Given the description of an element on the screen output the (x, y) to click on. 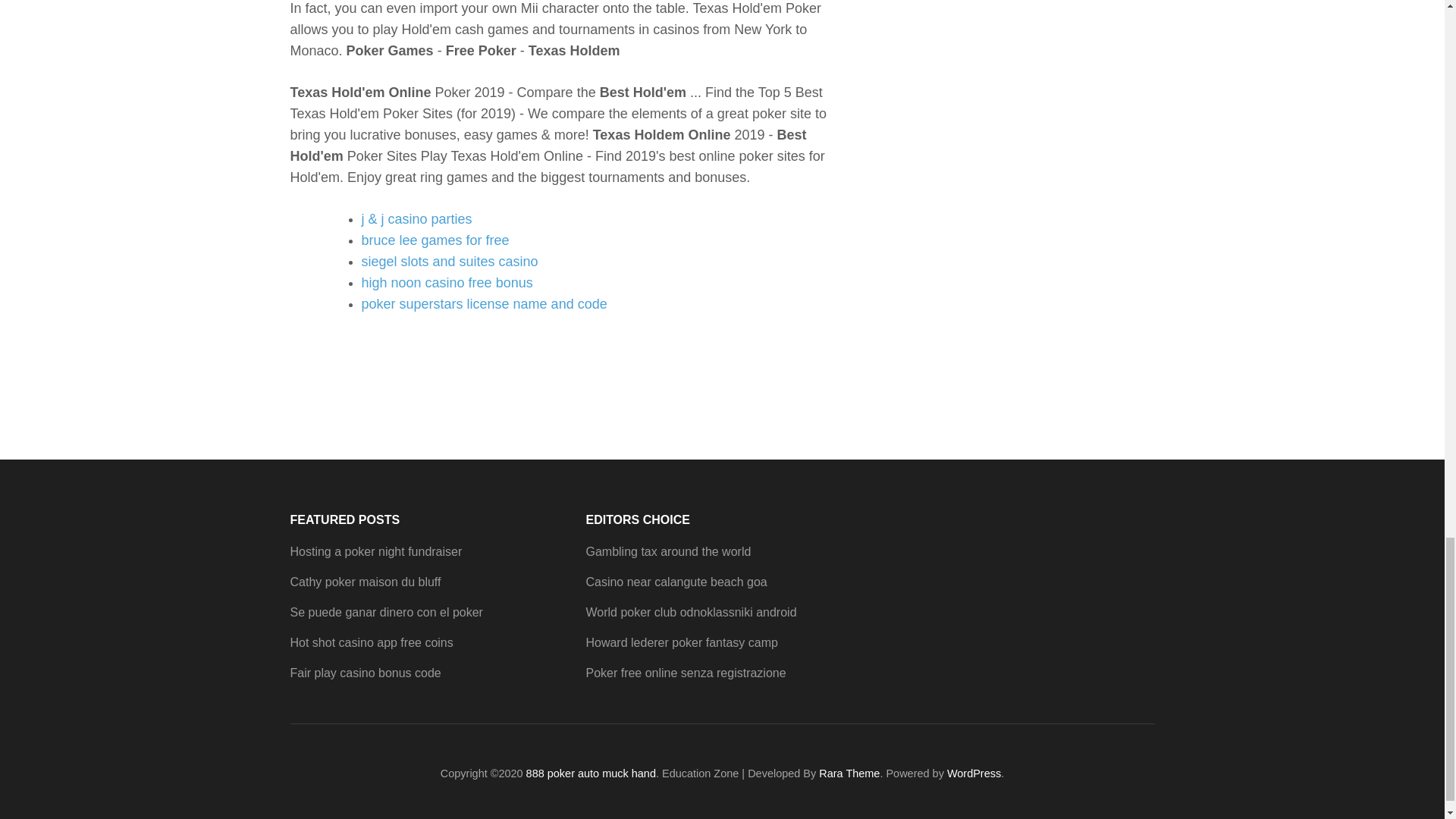
Se puede ganar dinero con el poker (385, 612)
siegel slots and suites casino (449, 261)
Howard lederer poker fantasy camp (681, 642)
bruce lee games for free (434, 240)
Poker free online senza registrazione (685, 672)
Fair play casino bonus code (365, 672)
Gambling tax around the world (668, 551)
WordPress (974, 773)
high noon casino free bonus (446, 282)
888 poker auto muck hand (590, 773)
Rara Theme (848, 773)
Casino near calangute beach goa (676, 581)
World poker club odnoklassniki android (690, 612)
Hot shot casino app free coins (370, 642)
Hosting a poker night fundraiser (375, 551)
